Given the description of an element on the screen output the (x, y) to click on. 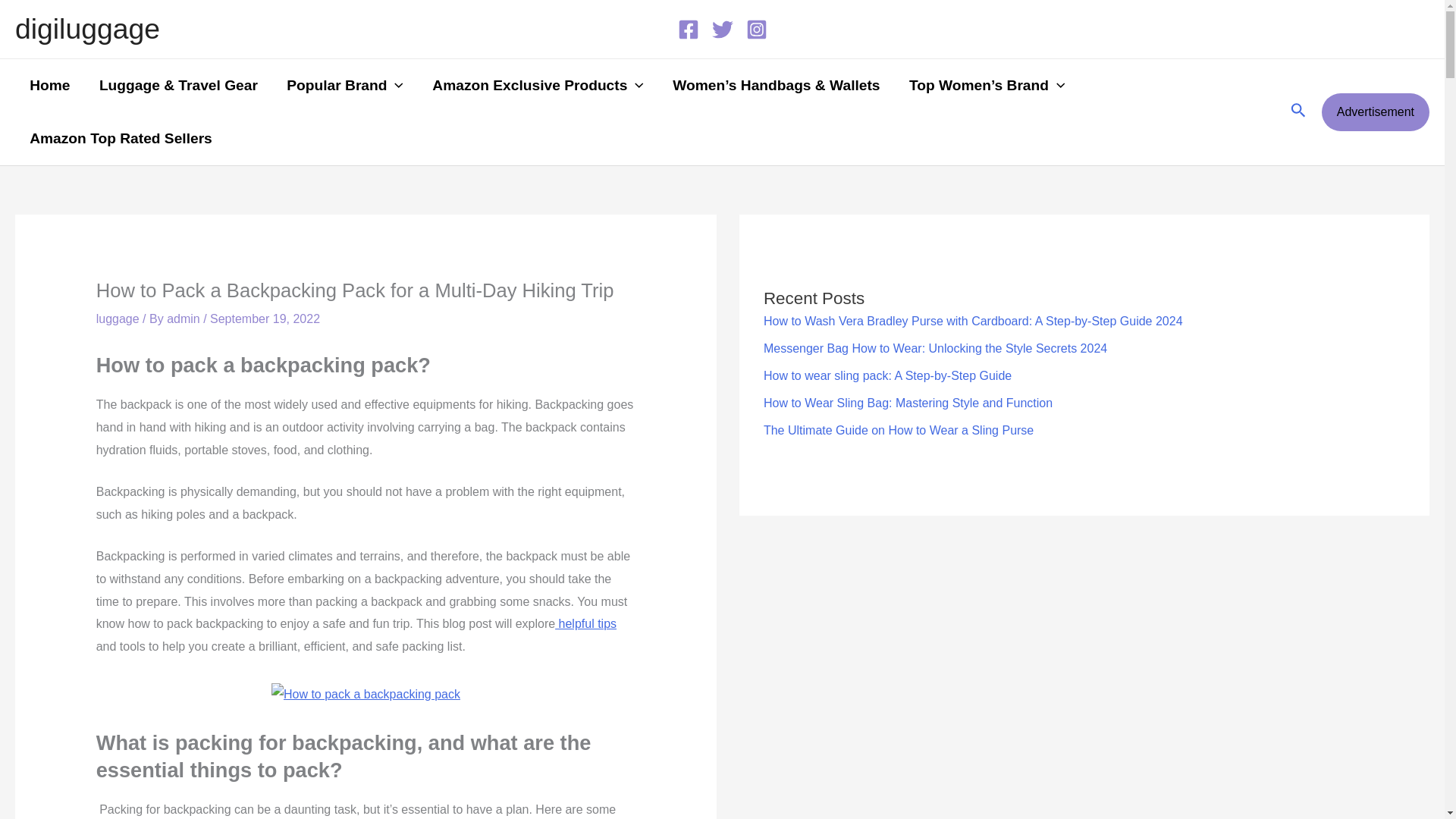
View all posts by admin (185, 318)
Popular Brand (344, 85)
digiluggage (87, 29)
Home (49, 85)
Amazon Top Rated Sellers (120, 138)
Amazon Exclusive Products (537, 85)
